Given the description of an element on the screen output the (x, y) to click on. 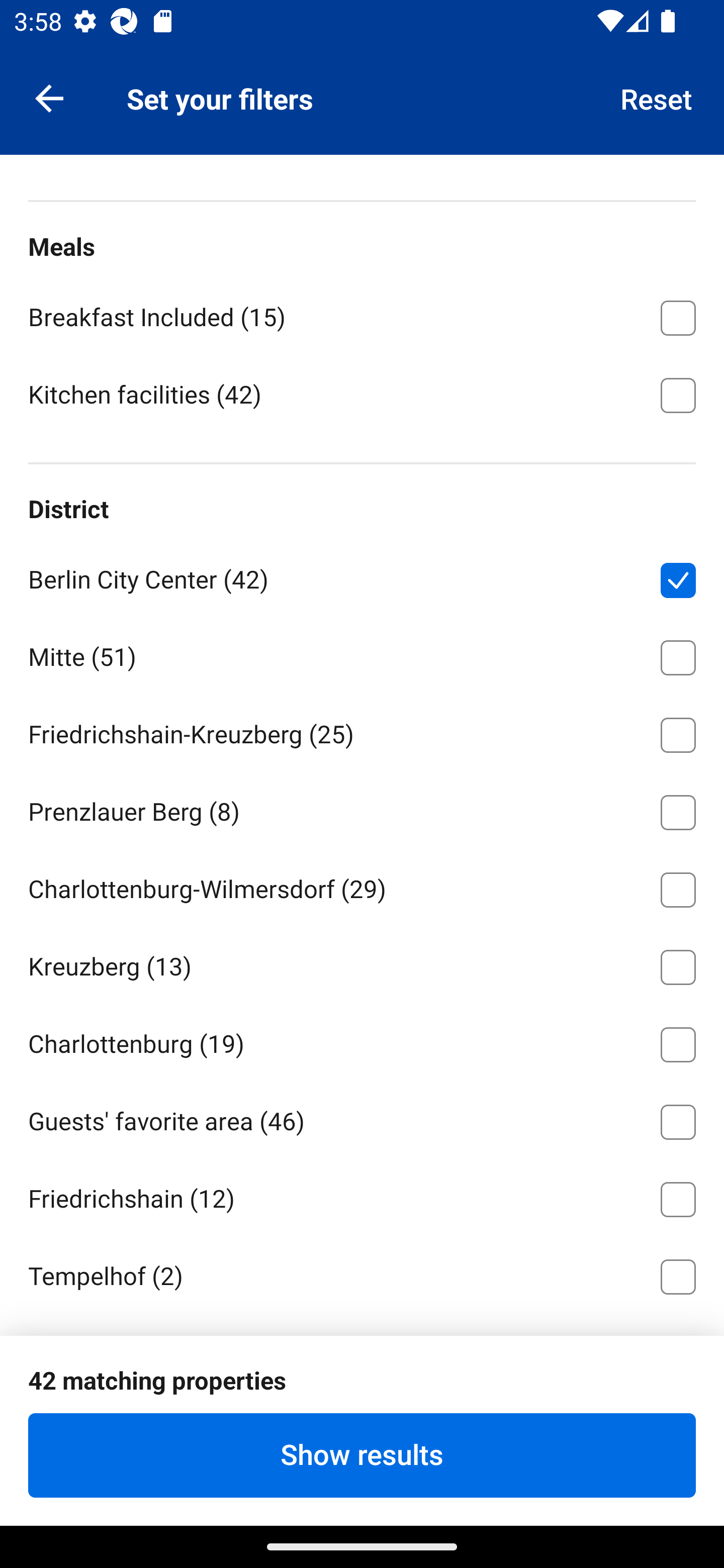
Navigate up (49, 97)
Reset (656, 97)
Breakfast Included ⁦(15) (361, 313)
Kitchen facilities ⁦(42) (361, 393)
Berlin City Center ⁦(42) (361, 576)
Mitte ⁦(51) (361, 654)
Friedrichshain-Kreuzberg ⁦(25) (361, 731)
Prenzlauer Berg ⁦(8) (361, 808)
Charlottenburg-Wilmersdorf ⁦(29) (361, 886)
Kreuzberg ⁦(13) (361, 963)
Charlottenburg ⁦(19) (361, 1040)
Guests' favorite area ⁦(46) (361, 1118)
Friedrichshain ⁦(12) (361, 1196)
Tempelhof ⁦(2) (361, 1273)
Show results (361, 1454)
